Given the description of an element on the screen output the (x, y) to click on. 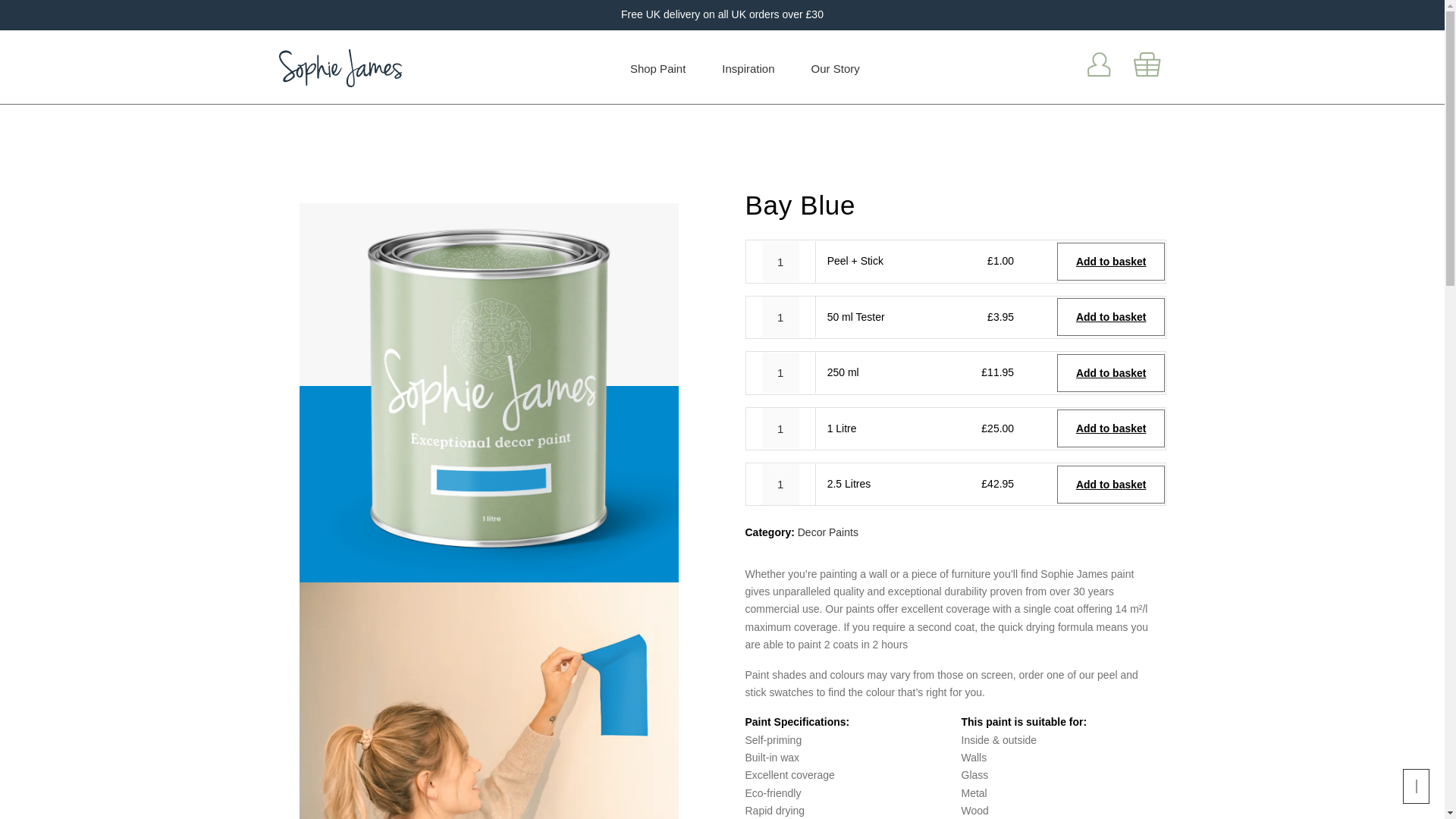
1 (780, 484)
Inspiration (747, 67)
Add to basket (1111, 372)
Add to basket (1111, 484)
Shop Paint (657, 67)
1 (780, 372)
1 (780, 260)
1 (780, 427)
Add to basket (1111, 428)
Add to basket (1111, 261)
1 (780, 316)
Add to basket (1111, 316)
Our Story (835, 67)
